Given the description of an element on the screen output the (x, y) to click on. 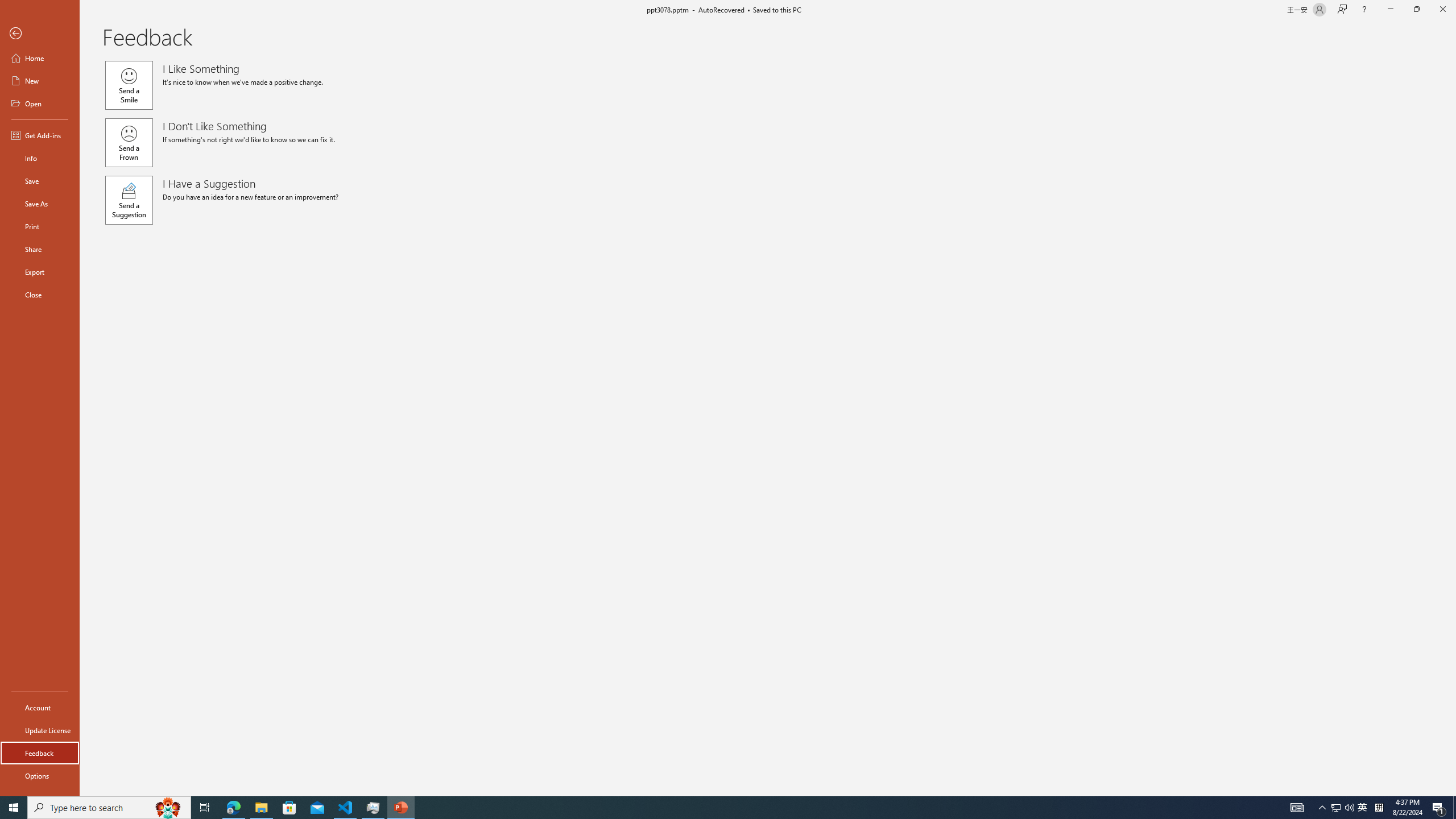
Back (40, 33)
Save As (40, 203)
Export (40, 271)
Update License (40, 730)
Options (40, 775)
